Given the description of an element on the screen output the (x, y) to click on. 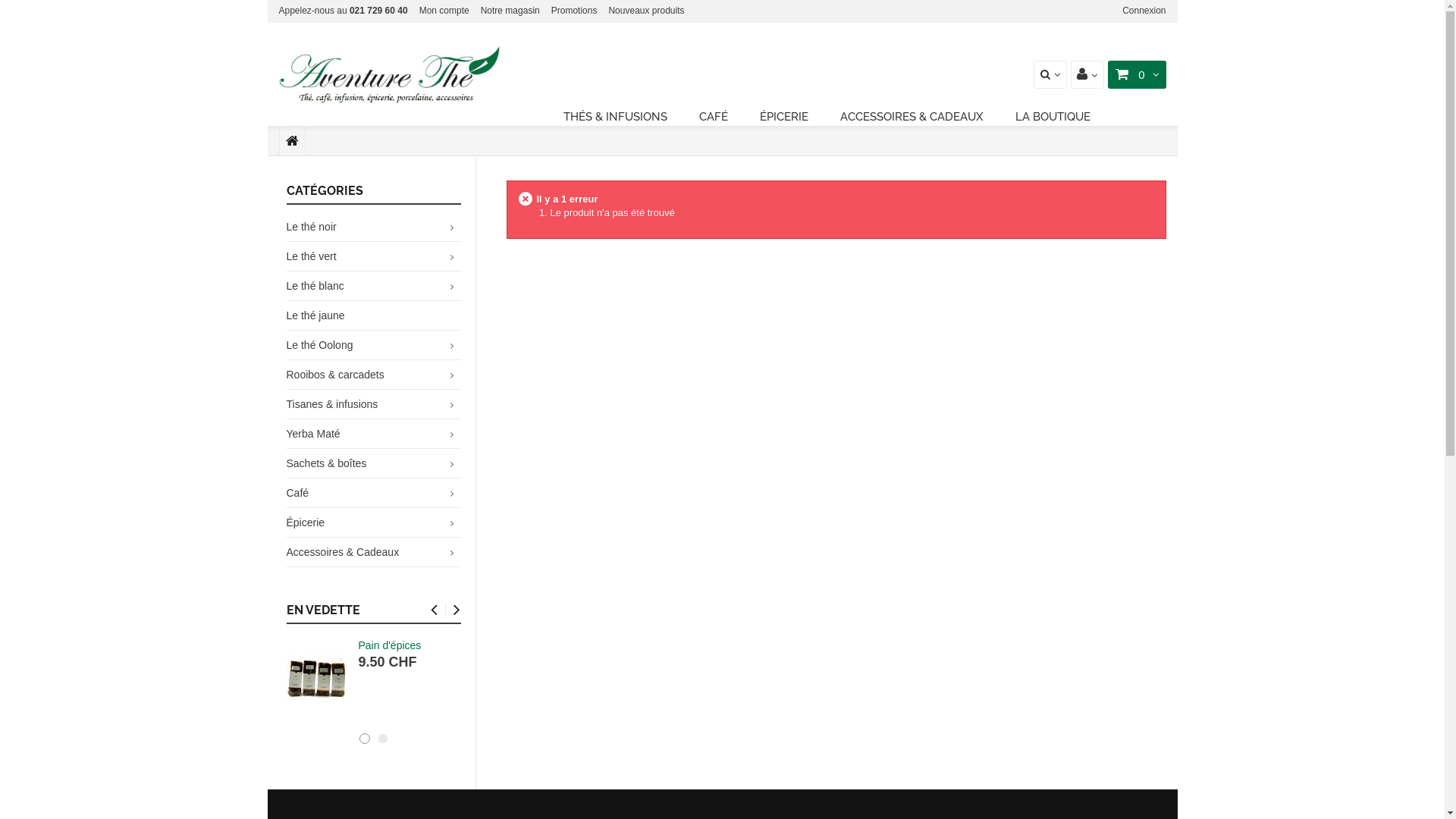
Nouveaux produits Element type: text (646, 10)
Mon compte Element type: text (444, 10)
Accessoires & Cadeaux Element type: text (342, 552)
Rooibos & carcadets Element type: text (335, 374)
0 Element type: text (1136, 74)
Connexion Element type: text (1143, 10)
Notre magasin Element type: text (509, 10)
ACCESSOIRES & CADEAUX Element type: text (911, 117)
Promotions Element type: text (574, 10)
LA BOUTIQUE Element type: text (1052, 117)
Tisanes & infusions Element type: text (332, 404)
